Given the description of an element on the screen output the (x, y) to click on. 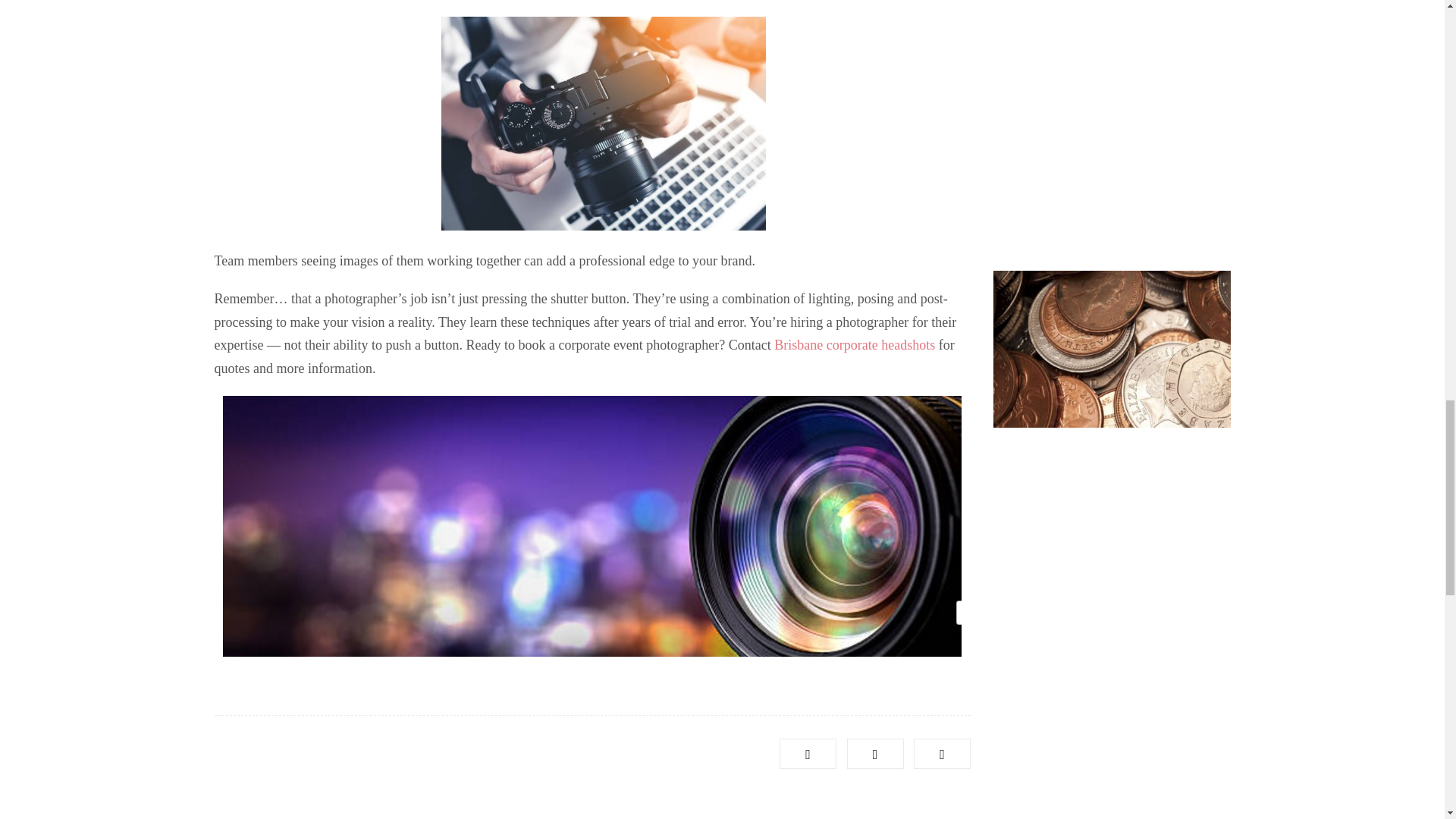
Brisbane corporate headshots (854, 344)
